Given the description of an element on the screen output the (x, y) to click on. 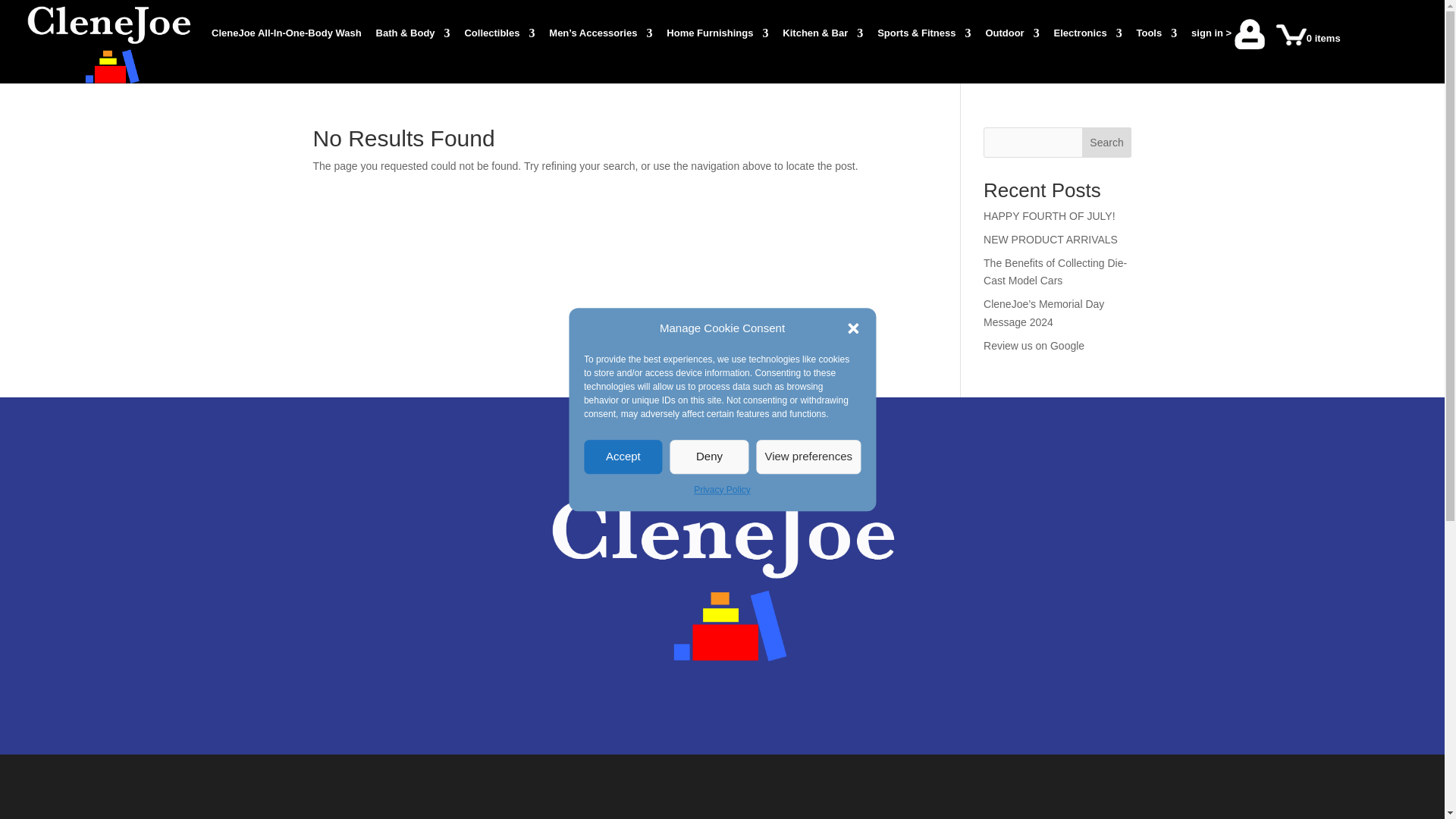
View preferences (807, 456)
Home Furnishings (717, 49)
Deny (709, 456)
CleneJoe All-In-One-Body Wash (286, 49)
Collectibles (499, 49)
Privacy Policy (722, 490)
Start shopping (1308, 47)
Accept (622, 456)
